Given the description of an element on the screen output the (x, y) to click on. 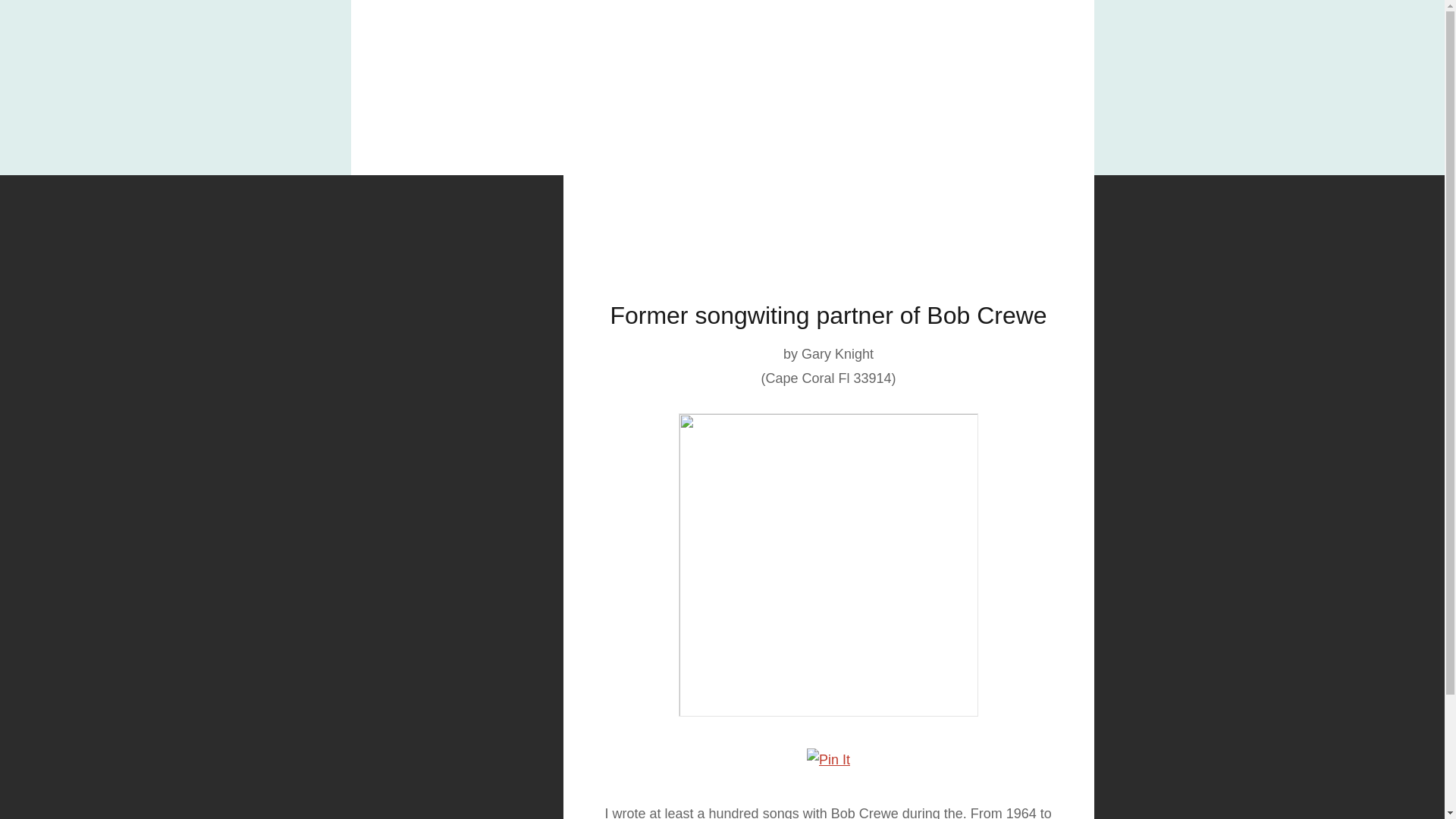
Pin It (828, 759)
